Given the description of an element on the screen output the (x, y) to click on. 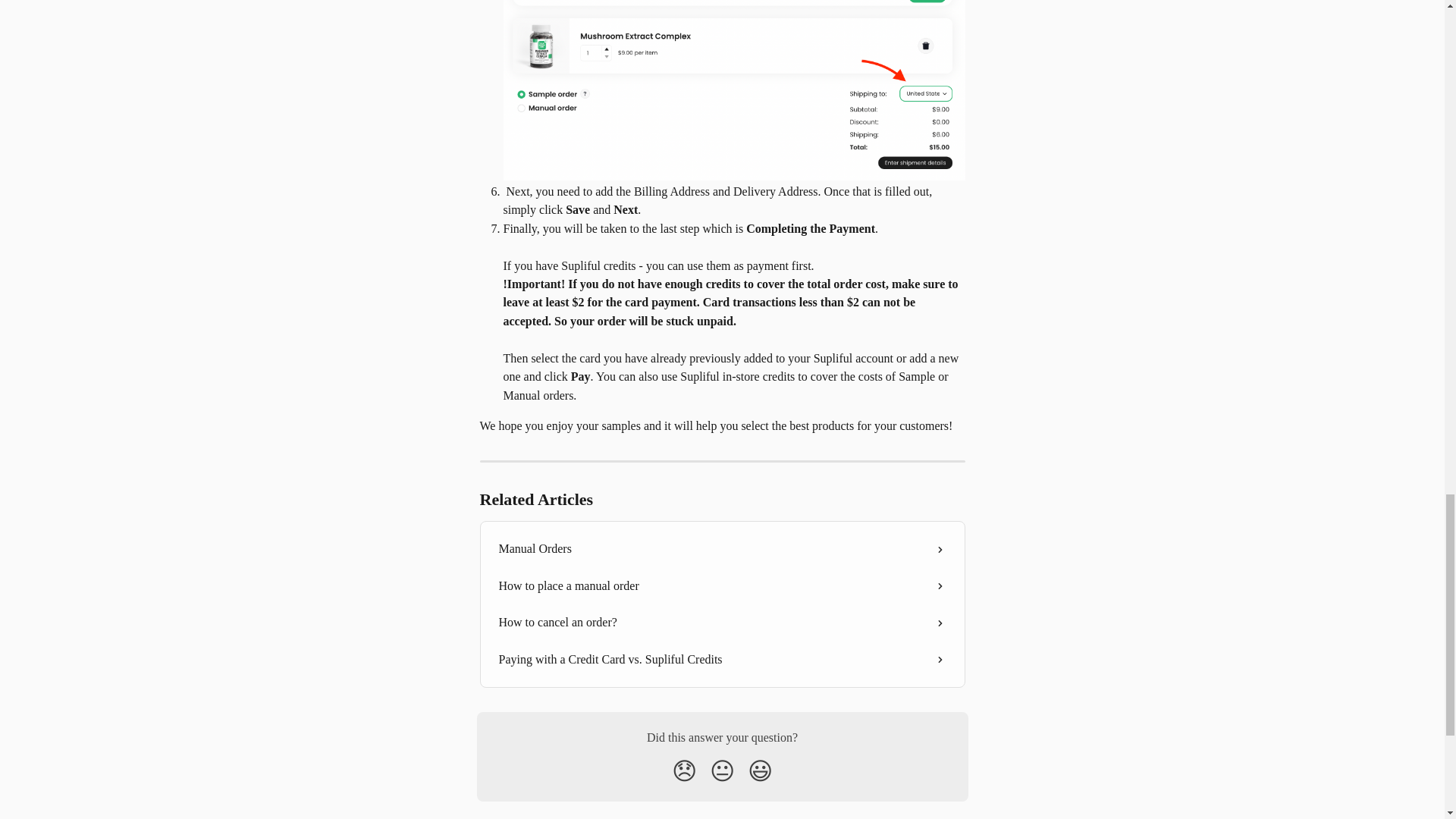
Manual Orders (722, 548)
Disappointed (684, 770)
Paying with a Credit Card vs. Supliful Credits (722, 659)
Smiley (760, 770)
Neutral (722, 770)
How to place a manual order (722, 586)
How to cancel an order? (722, 622)
